Given the description of an element on the screen output the (x, y) to click on. 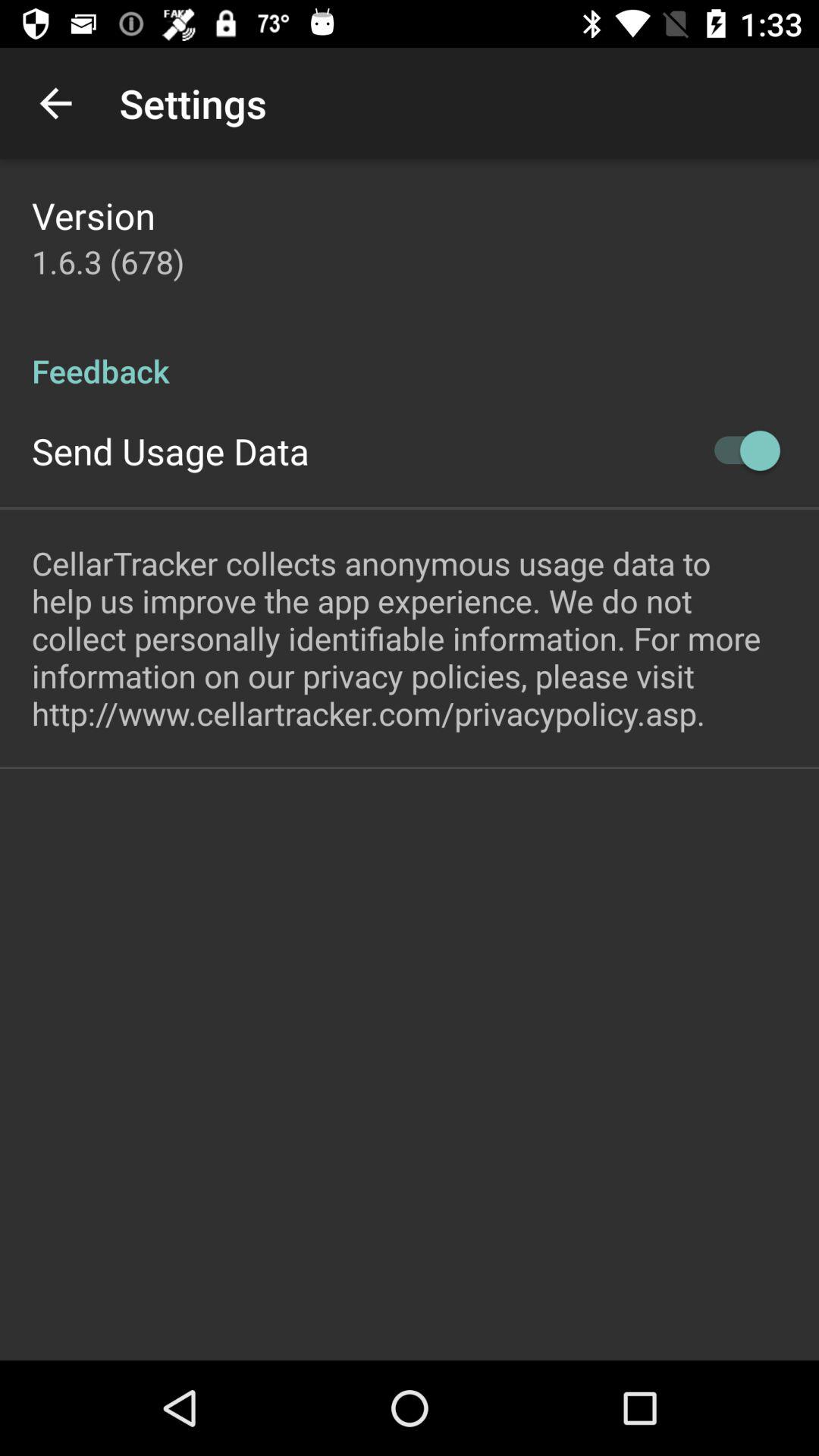
launch the icon to the left of the settings item (55, 103)
